Given the description of an element on the screen output the (x, y) to click on. 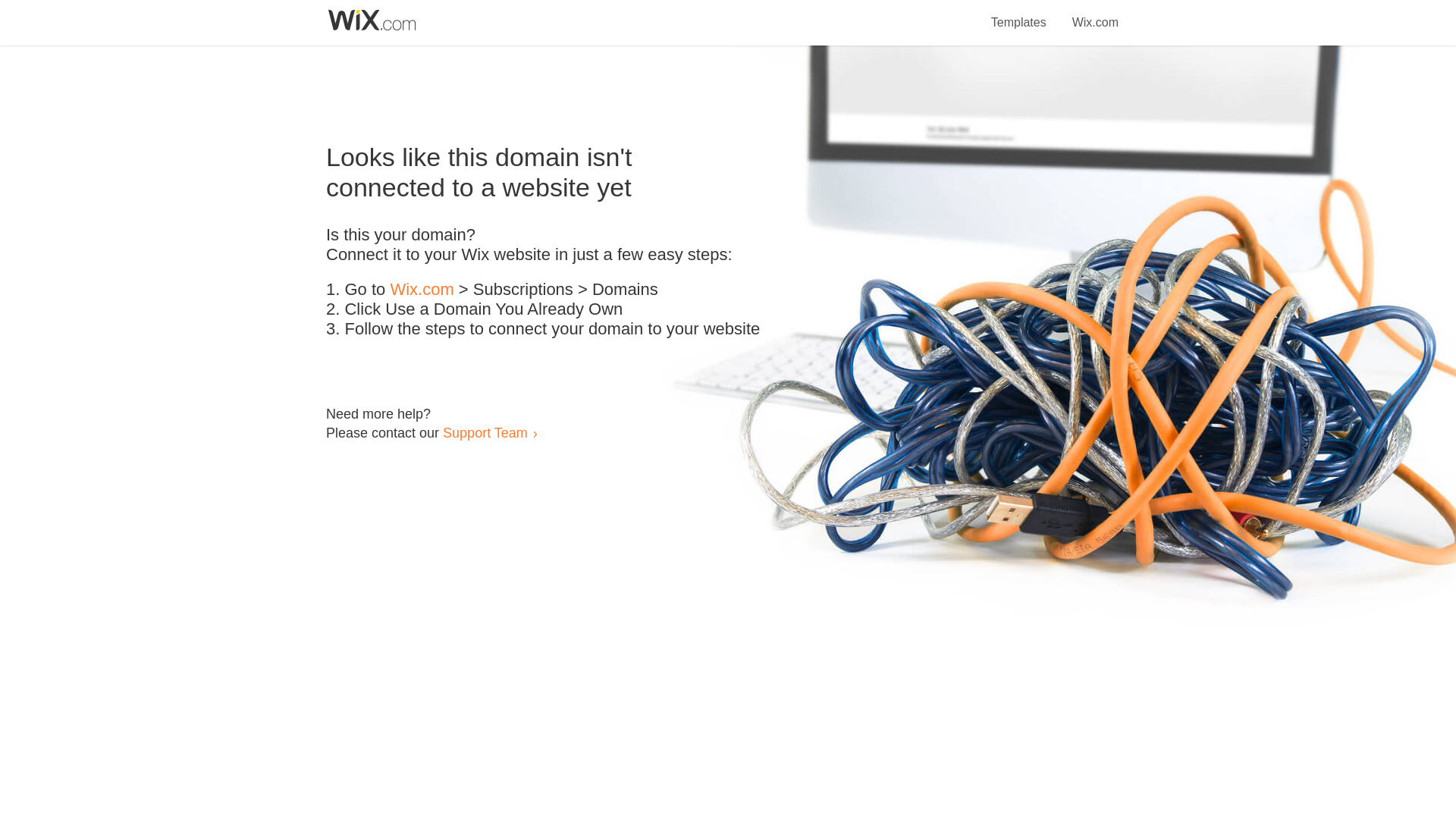
Support Team (484, 432)
Templates (1018, 14)
Wix.com (421, 289)
Wix.com (1095, 14)
